Given the description of an element on the screen output the (x, y) to click on. 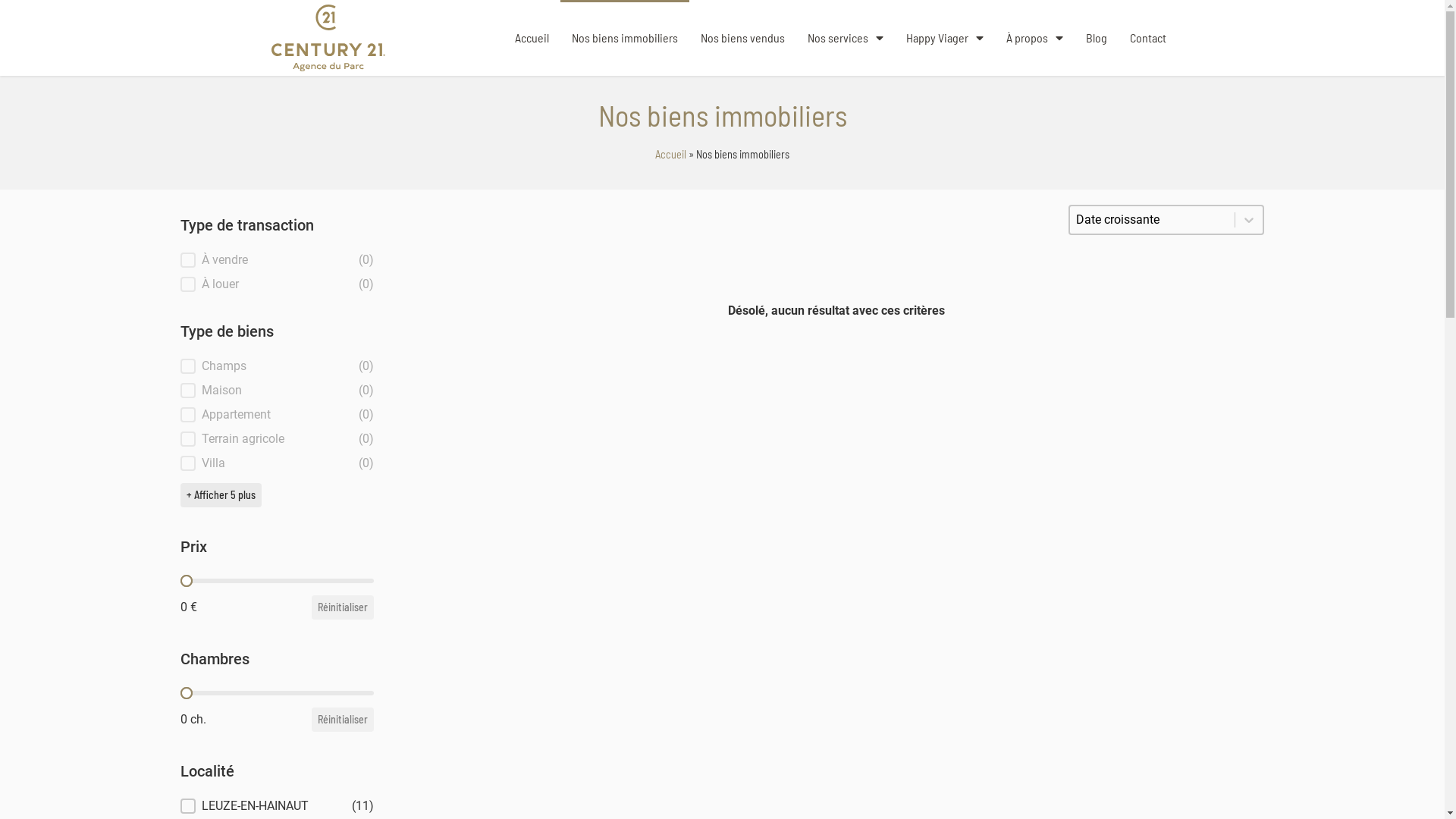
Happy Viager Element type: text (944, 37)
Nos biens immobiliers Element type: text (623, 37)
Nos services Element type: text (845, 37)
Accueil Element type: text (531, 37)
Blog Element type: text (1095, 37)
Accueil Element type: text (670, 153)
+ Afficher 5 plus Element type: text (220, 495)
Contact Element type: text (1146, 37)
Nos biens vendus Element type: text (741, 37)
